Given the description of an element on the screen output the (x, y) to click on. 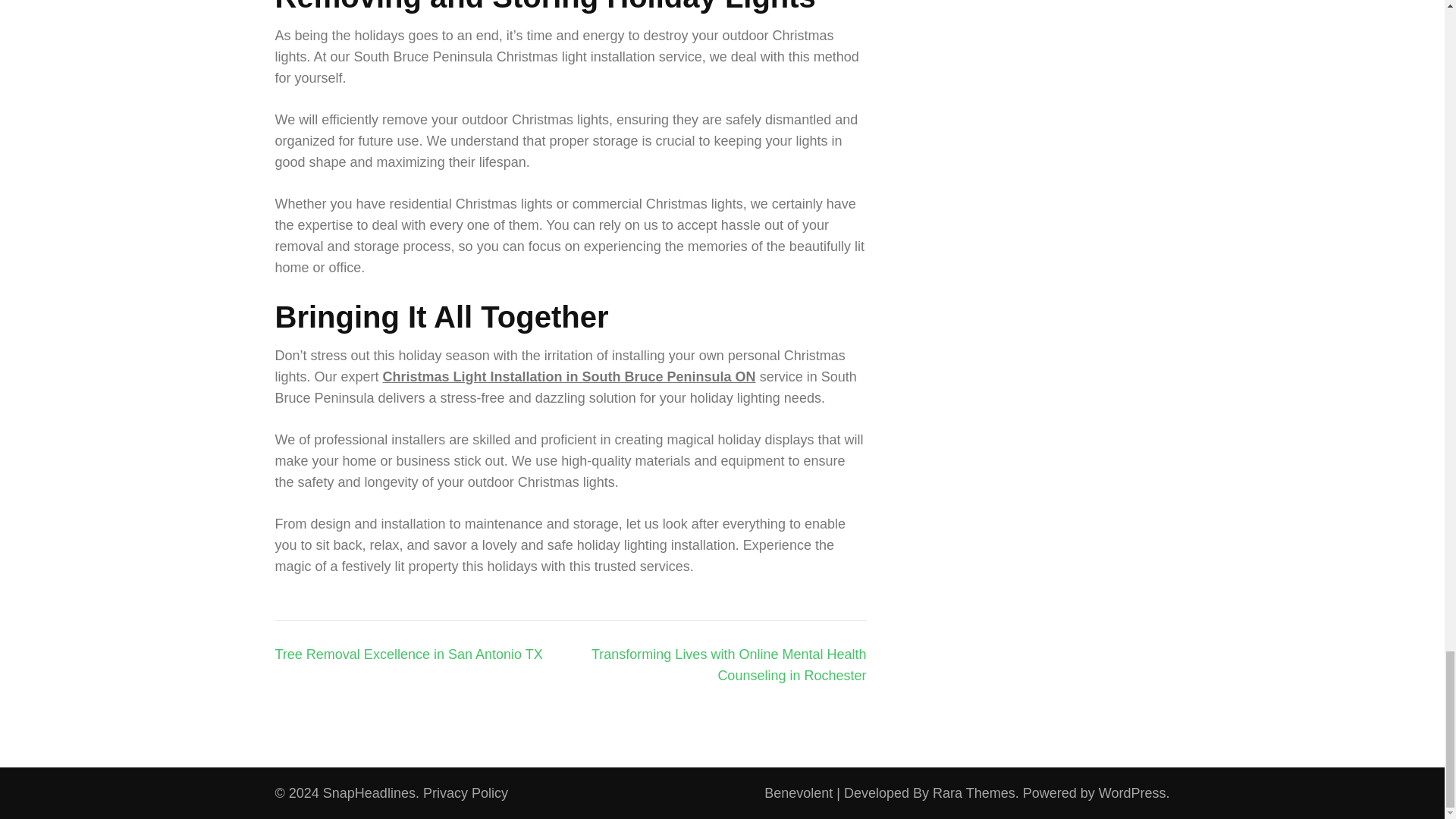
Christmas Light Installation in South Bruce Peninsula ON (568, 376)
Tree Removal Excellence in San Antonio TX (408, 654)
